Given the description of an element on the screen output the (x, y) to click on. 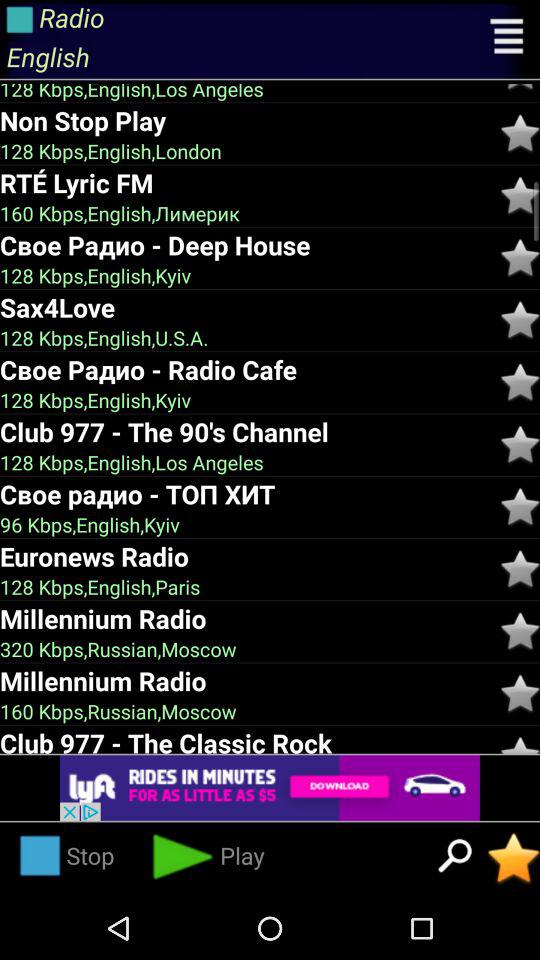
rate star (520, 257)
